Given the description of an element on the screen output the (x, y) to click on. 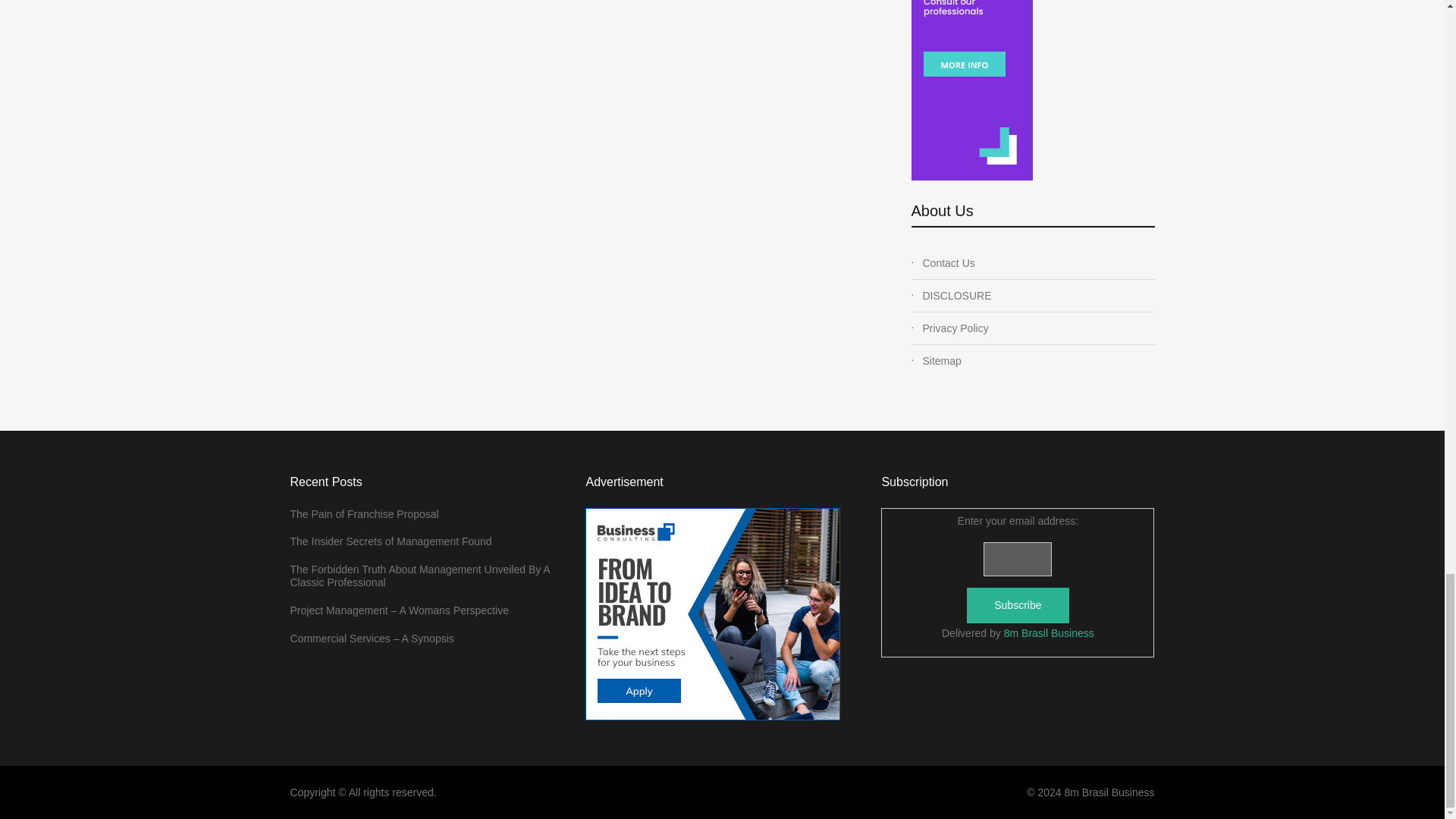
Subscribe (1017, 605)
